Given the description of an element on the screen output the (x, y) to click on. 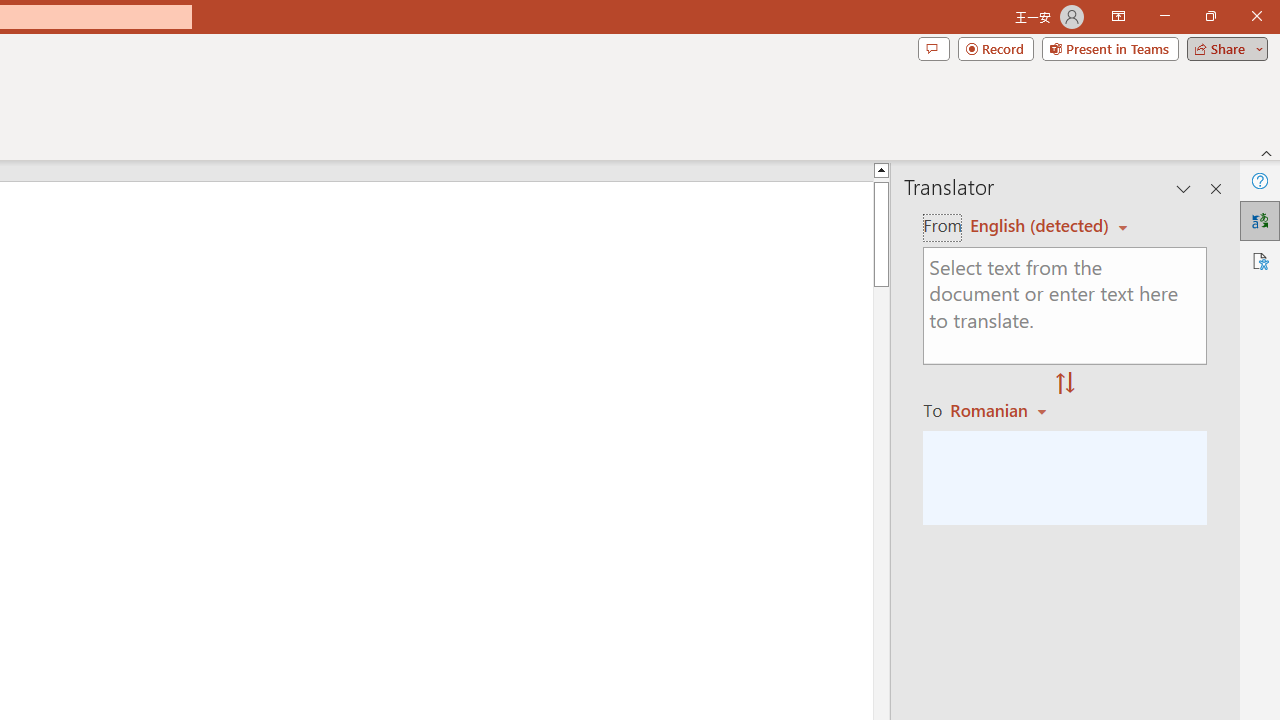
Romanian (1001, 409)
